Given the description of an element on the screen output the (x, y) to click on. 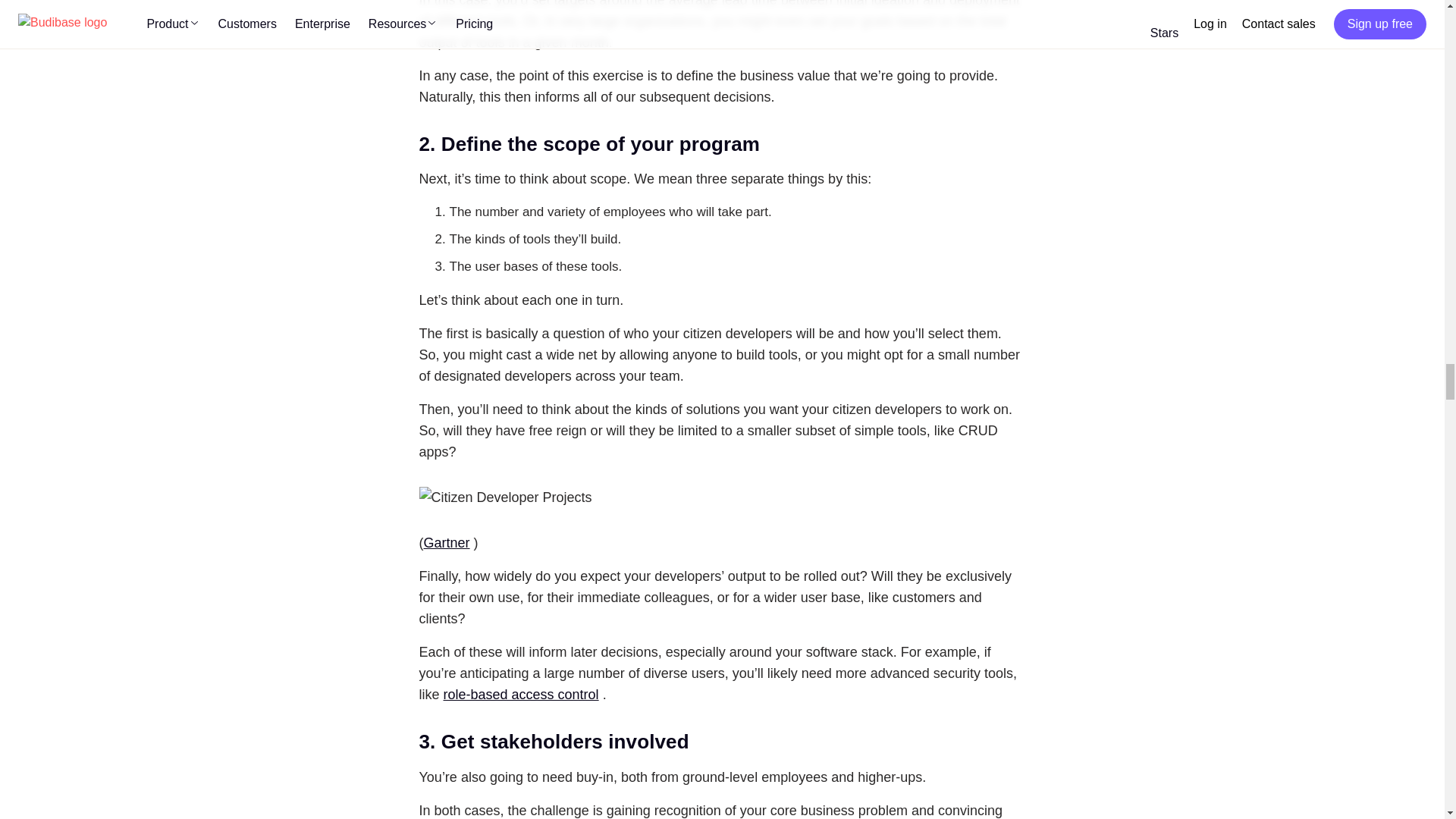
role-based access control (521, 694)
Gartner (445, 542)
Citizen Developer Projects (505, 496)
